Given the description of an element on the screen output the (x, y) to click on. 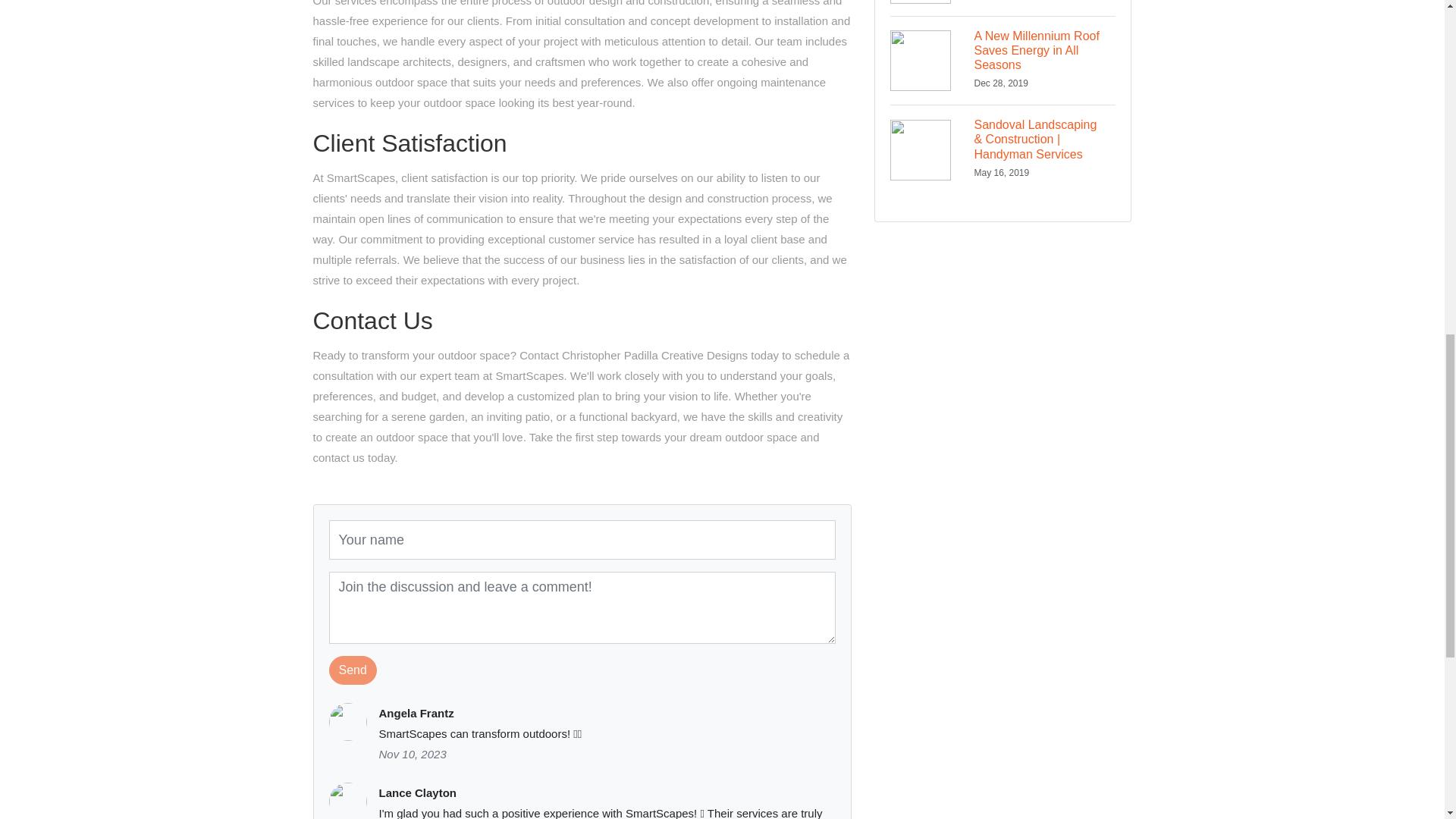
Send (1002, 7)
Send (353, 670)
